Given the description of an element on the screen output the (x, y) to click on. 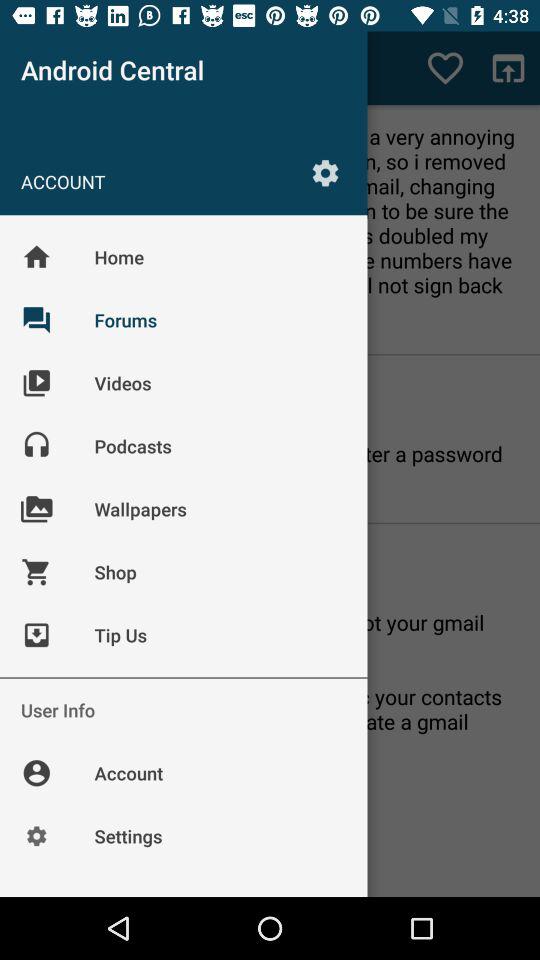
choose the settings icon (326, 172)
select the symbol left to videos (52, 397)
